Given the description of an element on the screen output the (x, y) to click on. 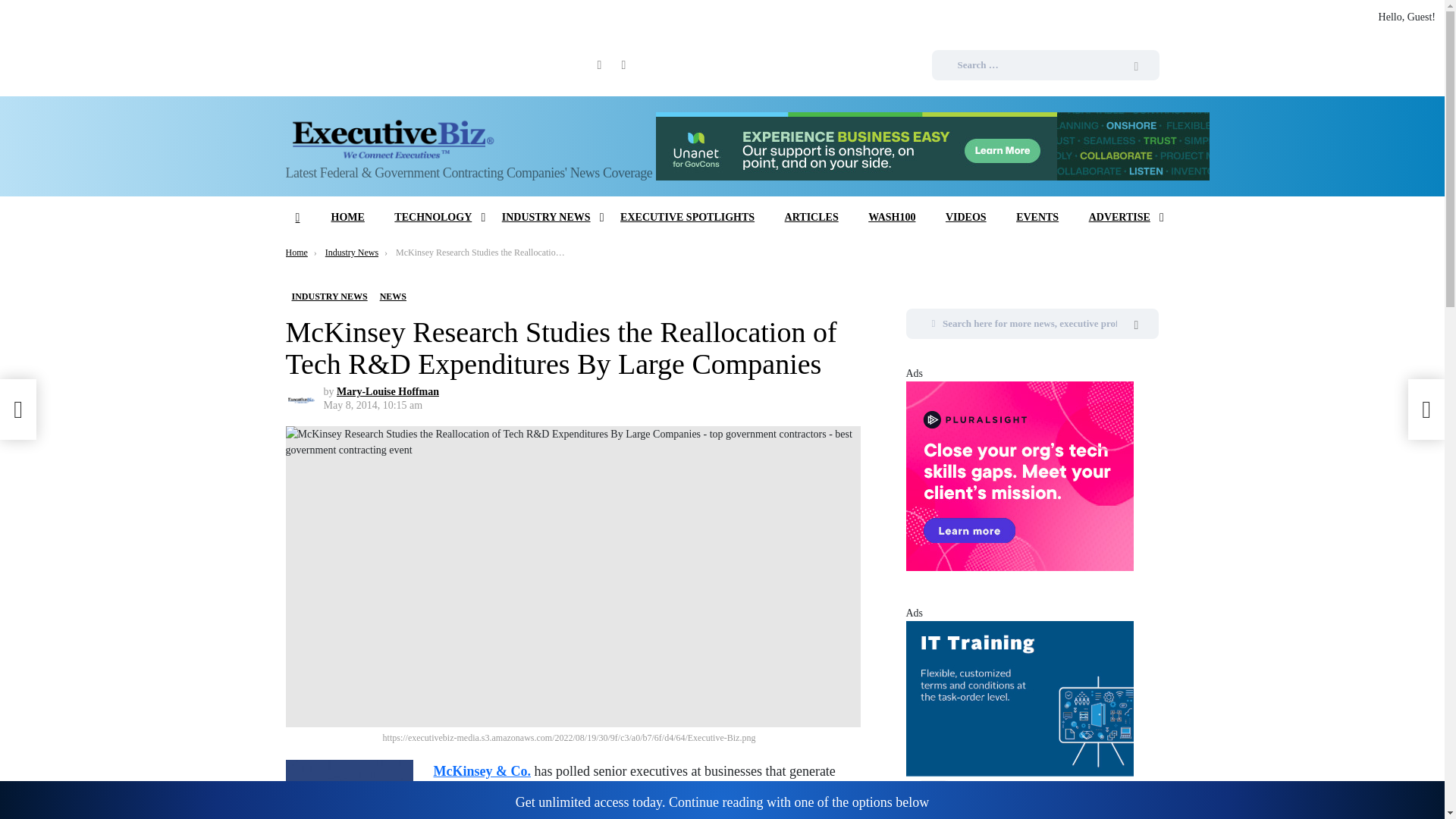
Search (1136, 67)
VIDEOS (965, 217)
Facebook (598, 65)
TECHNOLOGY (432, 217)
Home (296, 252)
INDUSTRY NEWS (545, 217)
Search for: (1044, 64)
EVENTS (1037, 217)
EXECUTIVE SPOTLIGHTS (687, 217)
WASH100 (891, 217)
Menu (296, 217)
ADVERTISE (1119, 217)
ARTICLES (811, 217)
Posts by Mary-Louise Hoffman (387, 391)
HOME (347, 217)
